Given the description of an element on the screen output the (x, y) to click on. 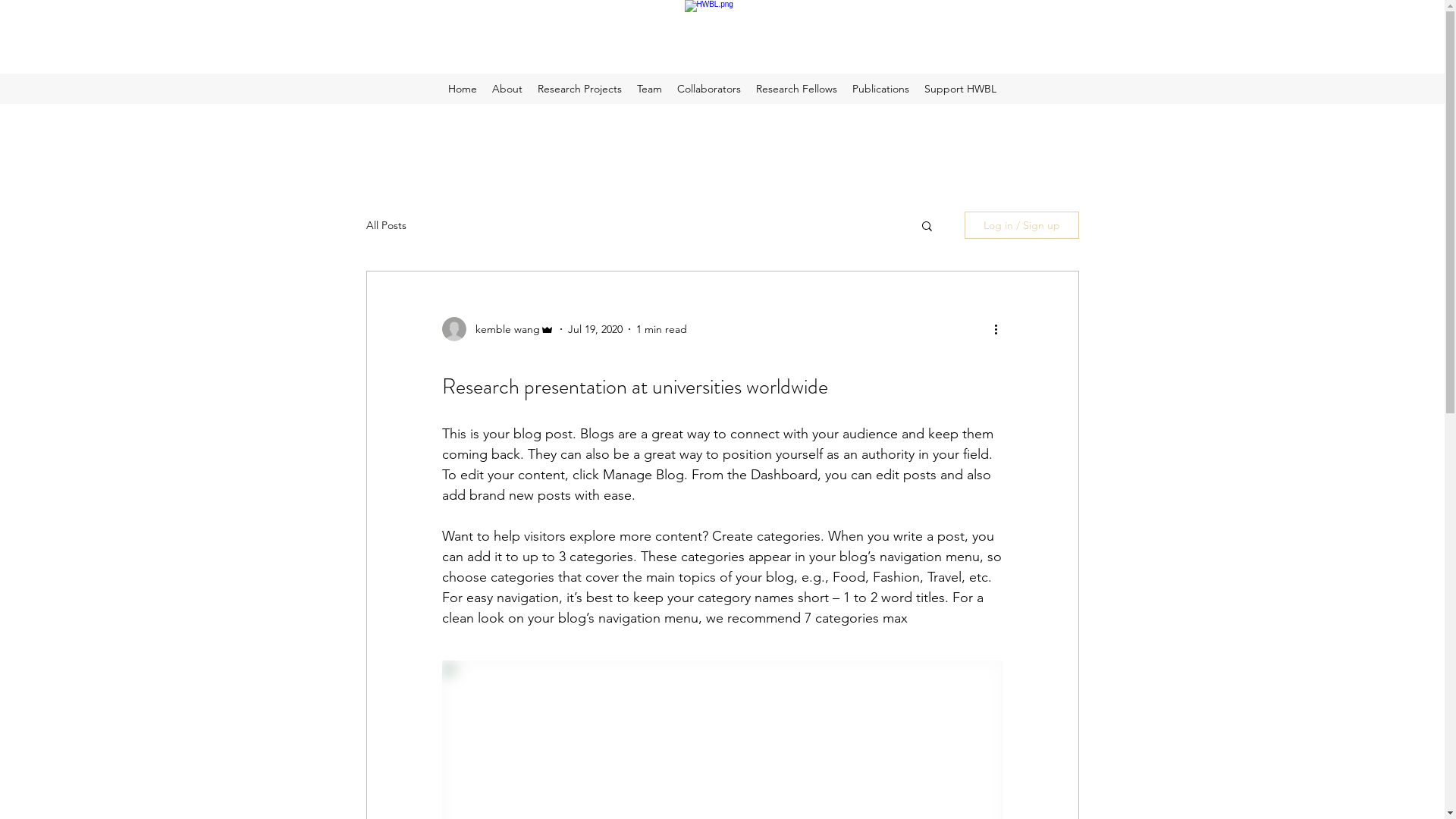
Research Projects Element type: text (579, 88)
Team Element type: text (649, 88)
Log in / Sign up Element type: text (1021, 224)
All Posts Element type: text (385, 225)
About Element type: text (507, 88)
Research Fellows Element type: text (796, 88)
Publications Element type: text (880, 88)
Support HWBL Element type: text (960, 88)
Home Element type: text (462, 88)
Collaborators Element type: text (708, 88)
